Given the description of an element on the screen output the (x, y) to click on. 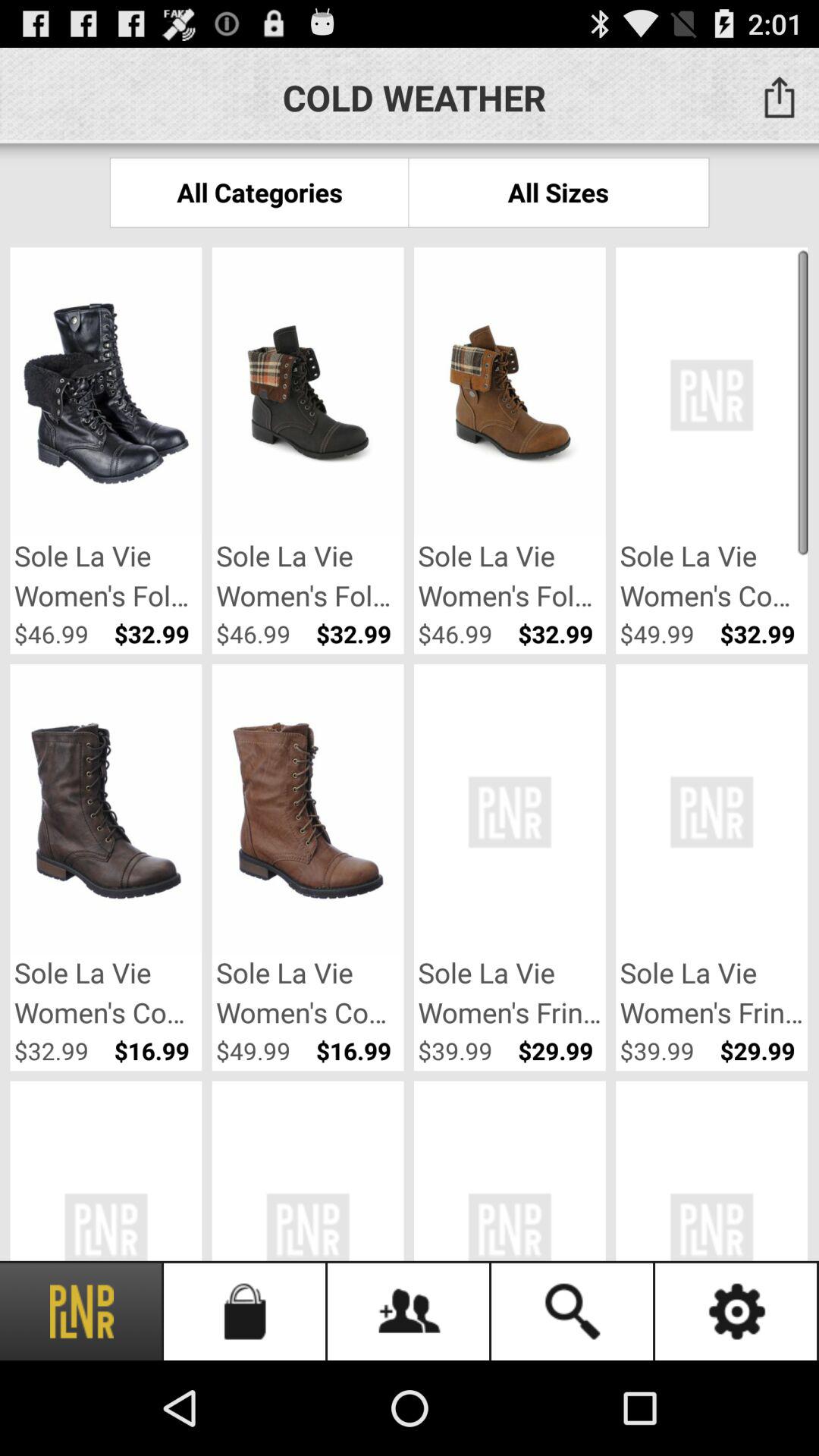
launch item next to the all sizes icon (259, 192)
